Given the description of an element on the screen output the (x, y) to click on. 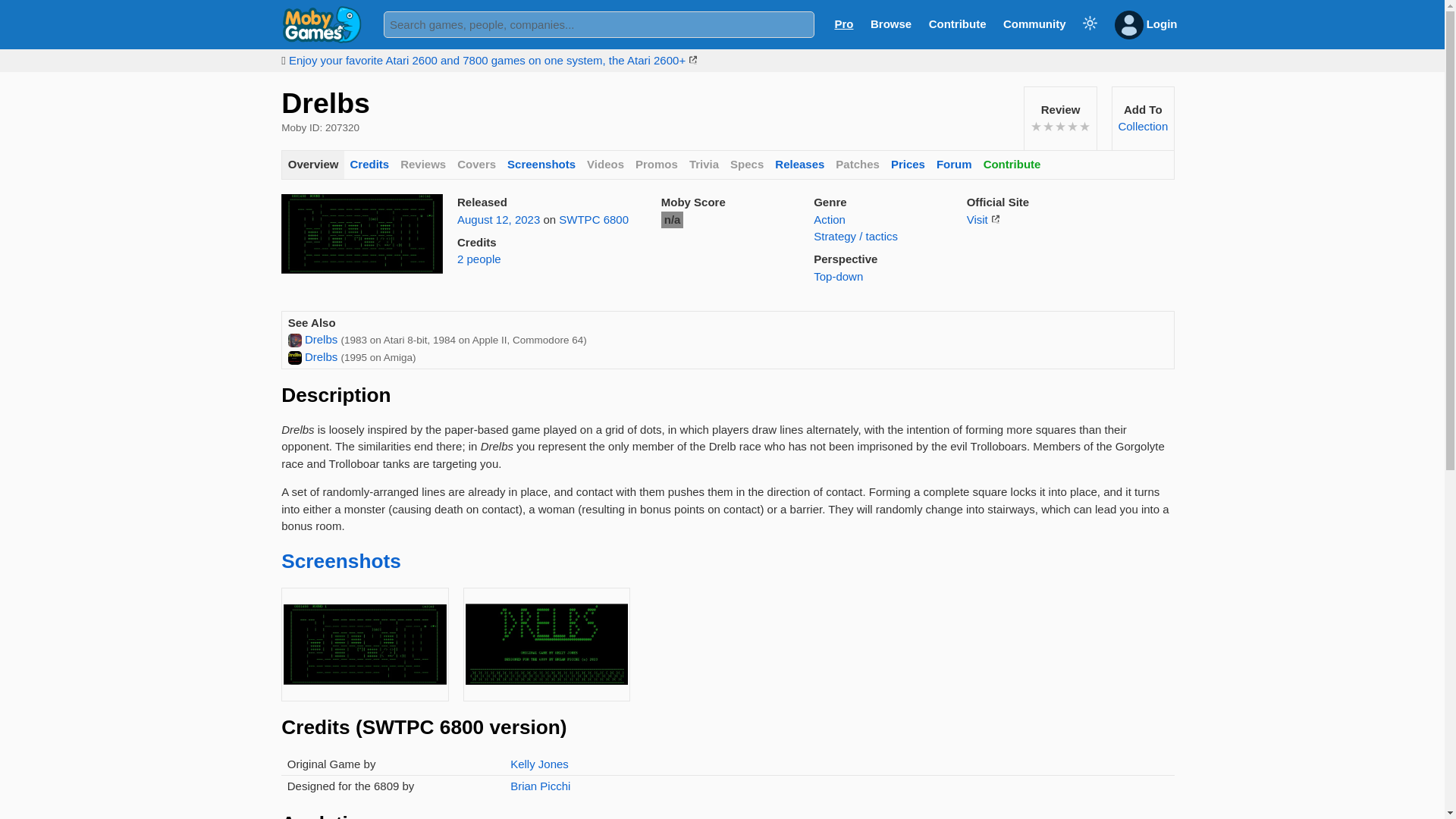
Collection (1142, 125)
Videos (605, 165)
Covers (476, 165)
Credits (368, 165)
Pro (843, 23)
Screenshots (541, 165)
Reviews (422, 165)
Overview (312, 165)
